Given the description of an element on the screen output the (x, y) to click on. 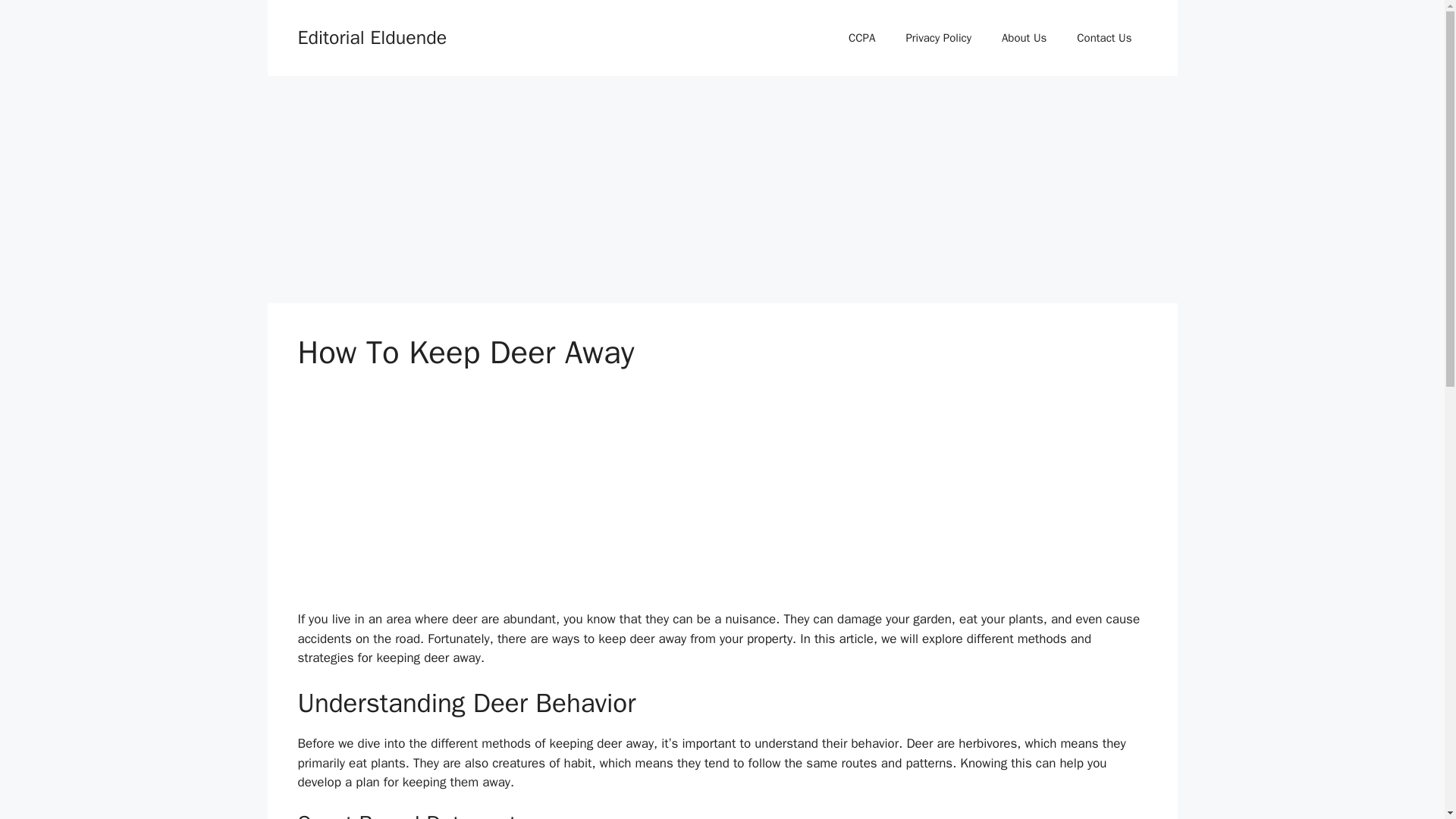
About Us (1024, 37)
Editorial Elduende (371, 37)
CCPA (860, 37)
Contact Us (1104, 37)
Advertisement (569, 182)
Advertisement (570, 503)
Privacy Policy (938, 37)
